Given the description of an element on the screen output the (x, y) to click on. 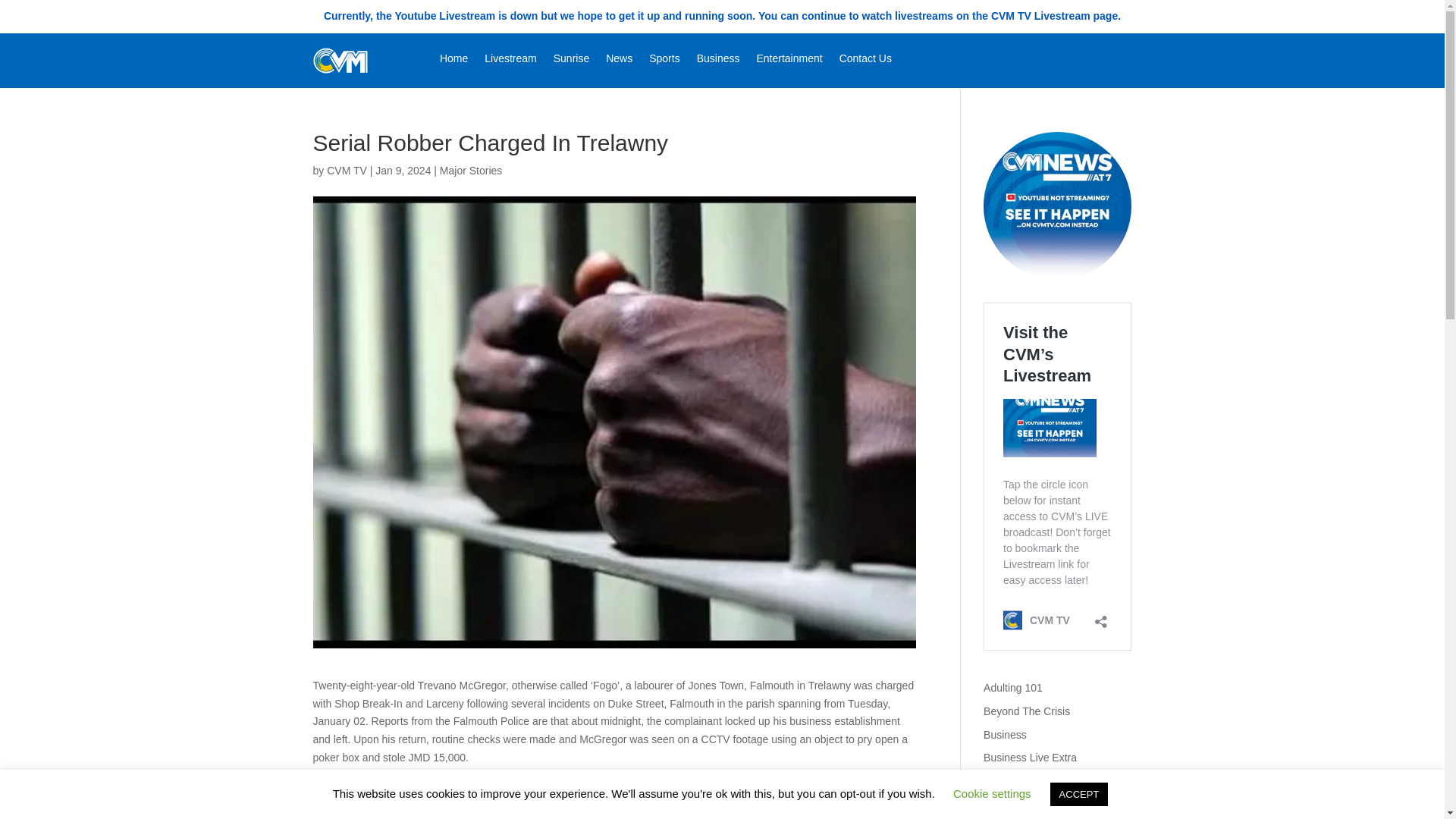
Livestream (509, 61)
Business News (1020, 780)
Business (1005, 734)
LIVE (1057, 205)
Home (453, 61)
Major Stories (470, 170)
Adulting 101 (1013, 687)
Beyond The Crisis (1027, 711)
Posts by CVM TV (346, 170)
News (618, 61)
COVID-19 (1008, 804)
Sports (664, 61)
CVM TV (346, 170)
Contact Us (865, 61)
Sunrise (571, 61)
